Given the description of an element on the screen output the (x, y) to click on. 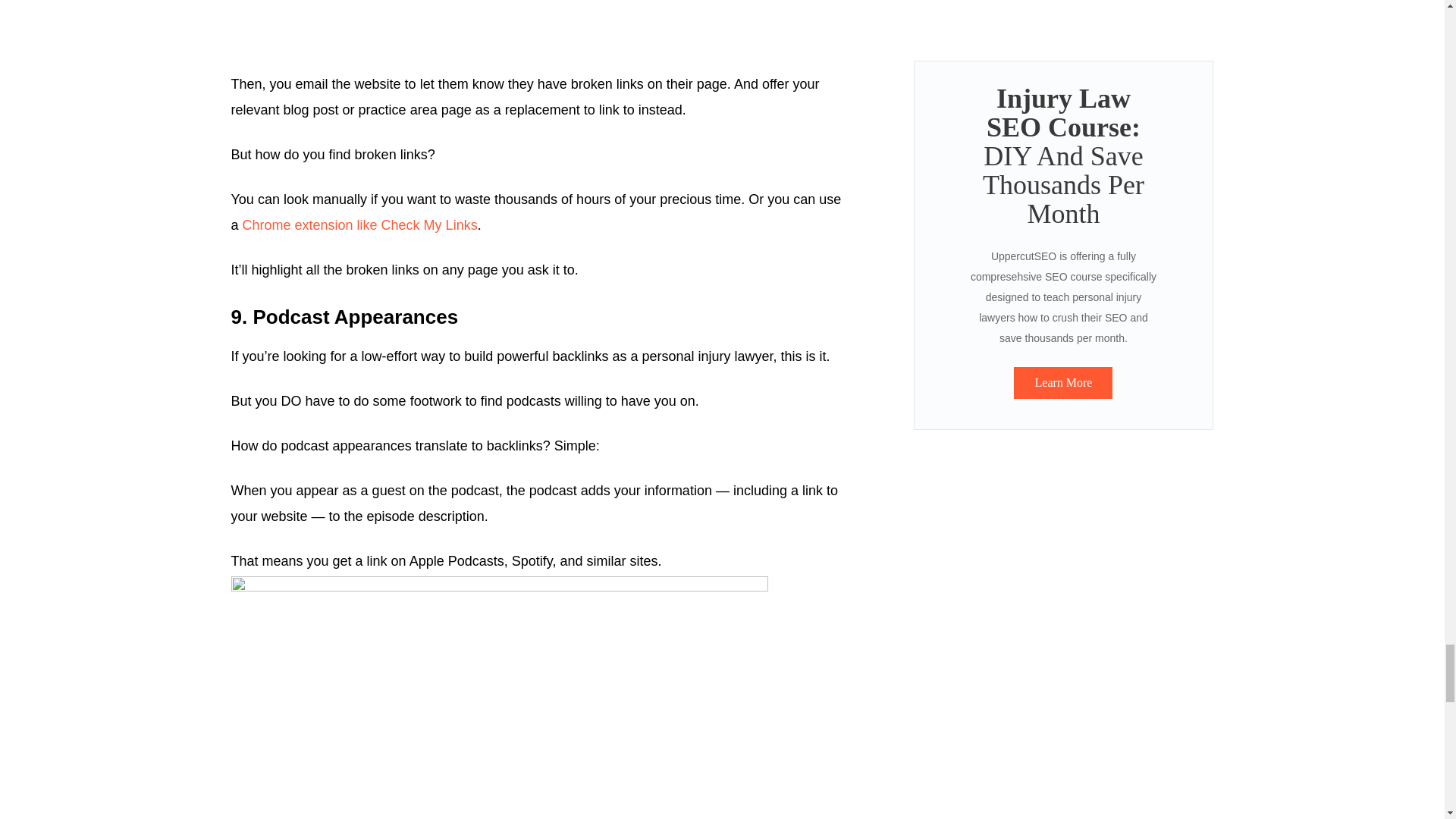
Chrome extension like Check My Links (360, 224)
